Given the description of an element on the screen output the (x, y) to click on. 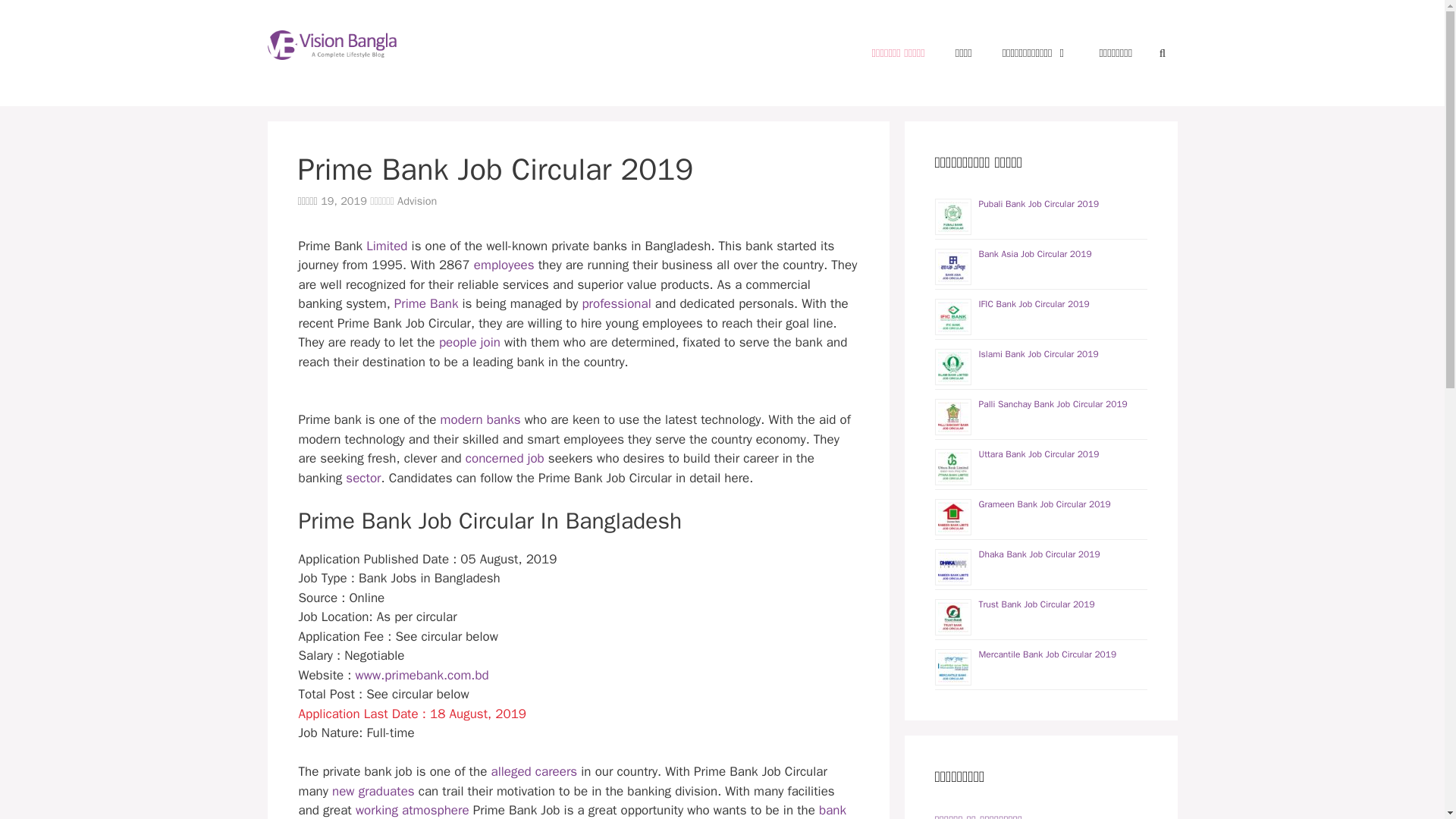
professional (615, 303)
Advision (416, 201)
concerned job (504, 458)
Bank Asia Job Circular 2019 (1034, 254)
employees (504, 264)
Permalink to Pubali Bank Job Circular 2019 (1038, 203)
Prime Bank (426, 303)
alleged careers (533, 771)
Pubali Bank Job Circular 2019 (1038, 203)
www.primebank.com.bd (422, 675)
